Given the description of an element on the screen output the (x, y) to click on. 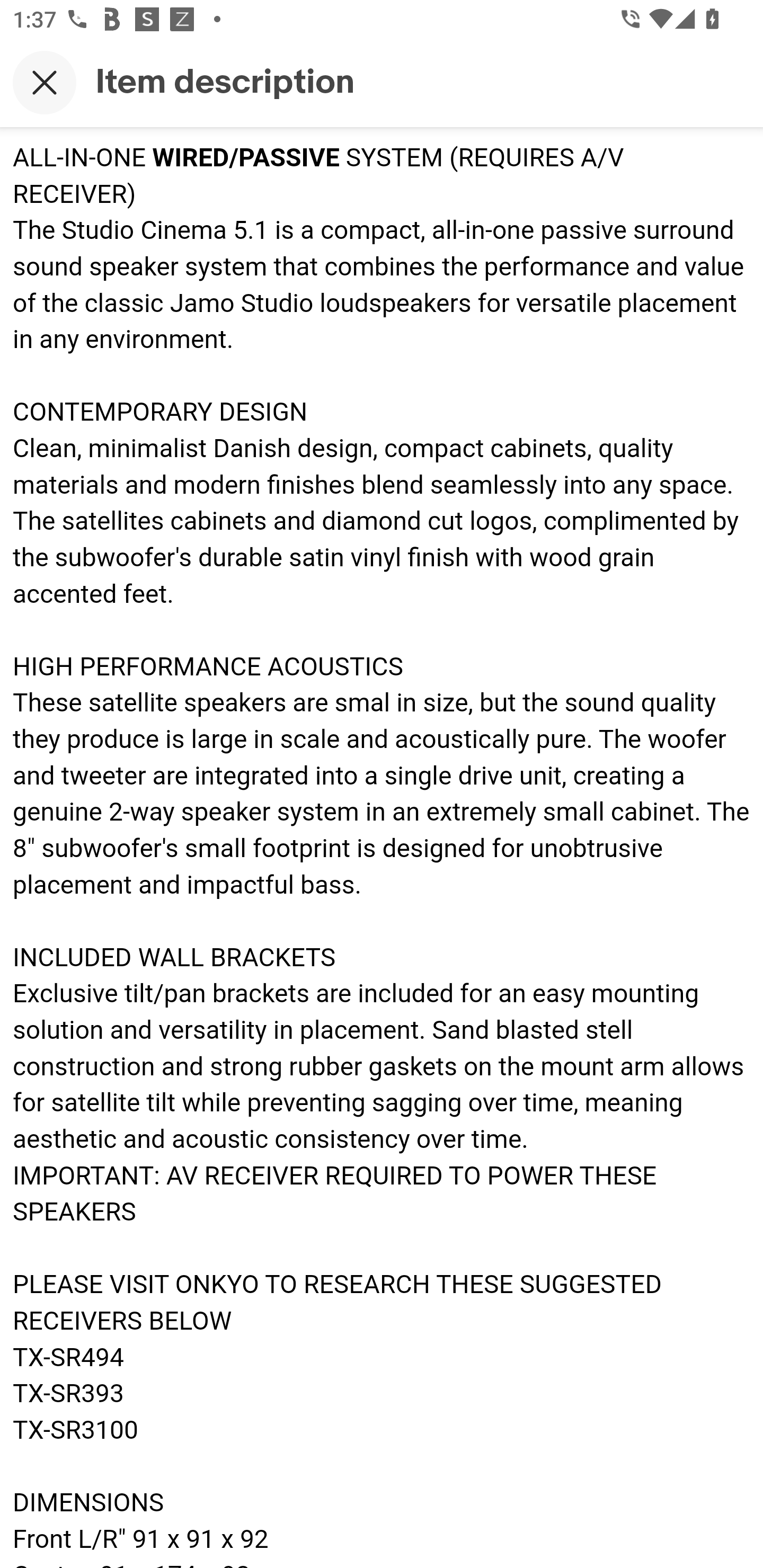
Close (44, 82)
